Given the description of an element on the screen output the (x, y) to click on. 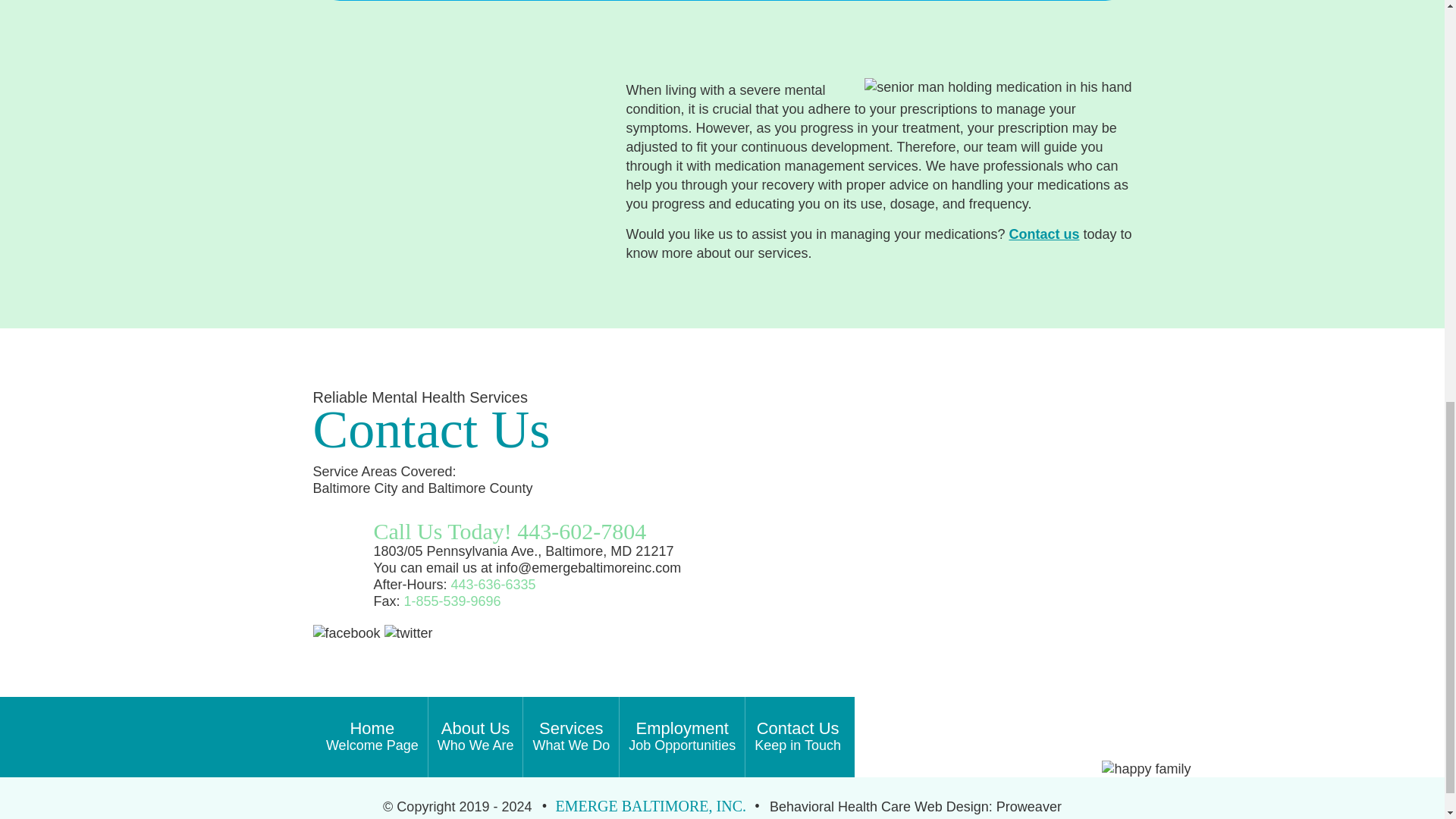
Behavioral Health Care Web Design (570, 736)
Proweaver (797, 736)
Contact us (879, 806)
